Given the description of an element on the screen output the (x, y) to click on. 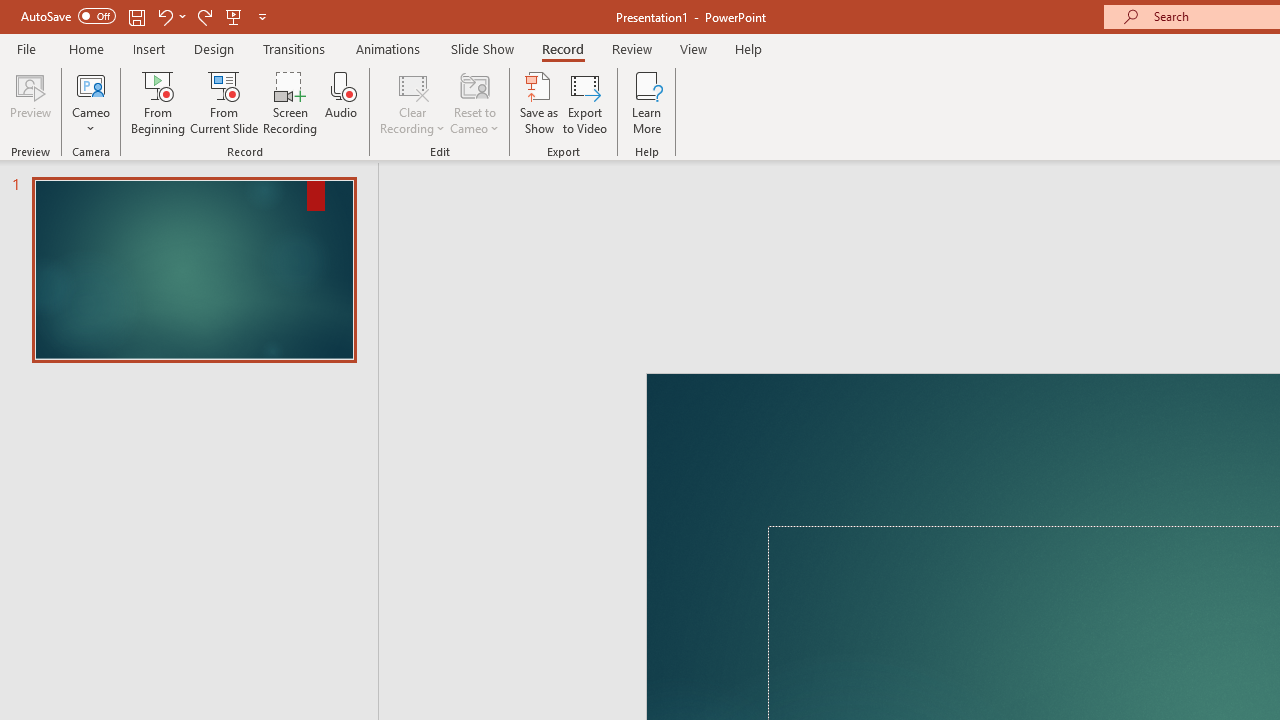
From Beginning... (158, 102)
